Given the description of an element on the screen output the (x, y) to click on. 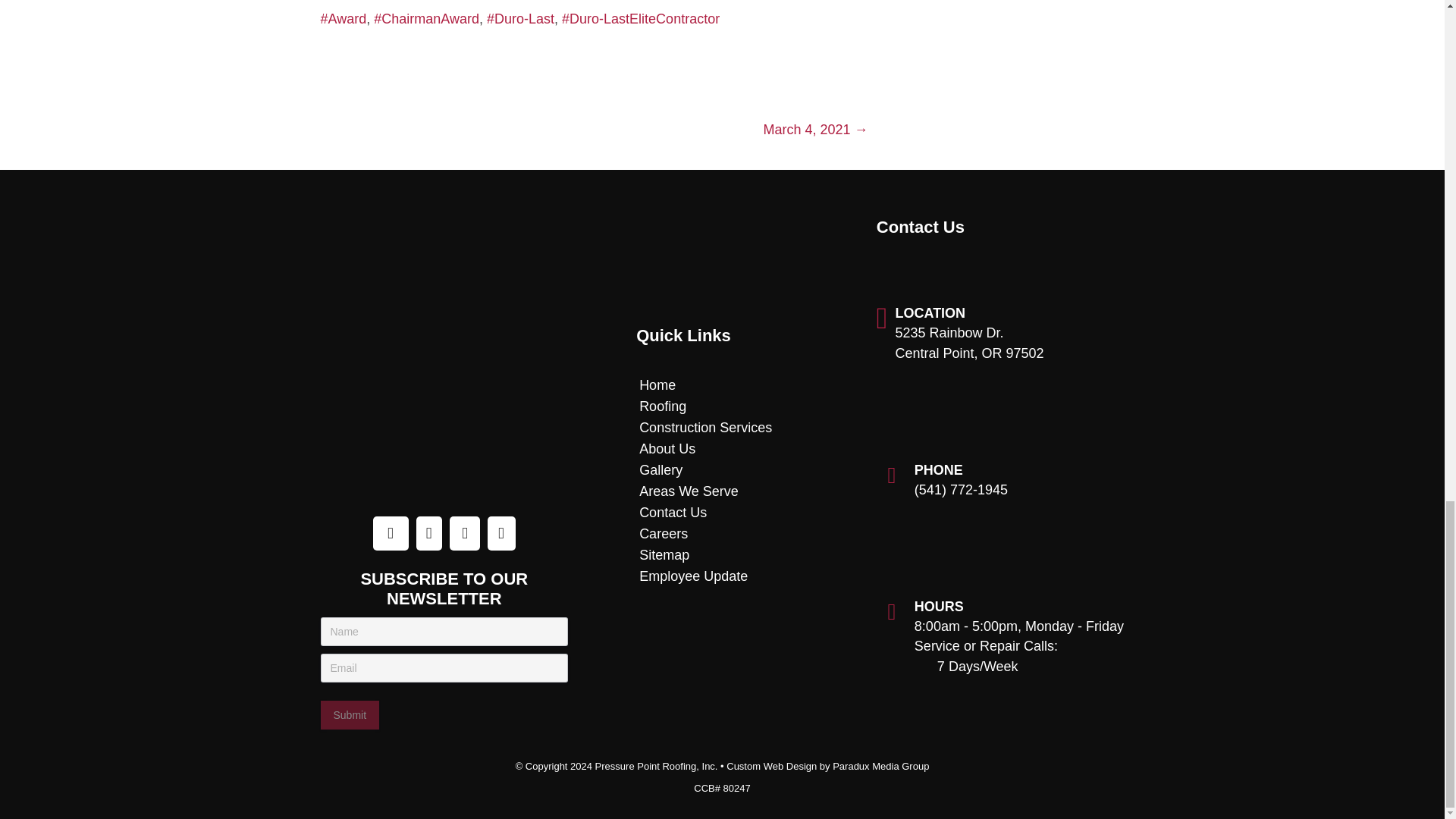
Paradux Media Group Custom Web Design (827, 766)
Submit (349, 715)
